Given the description of an element on the screen output the (x, y) to click on. 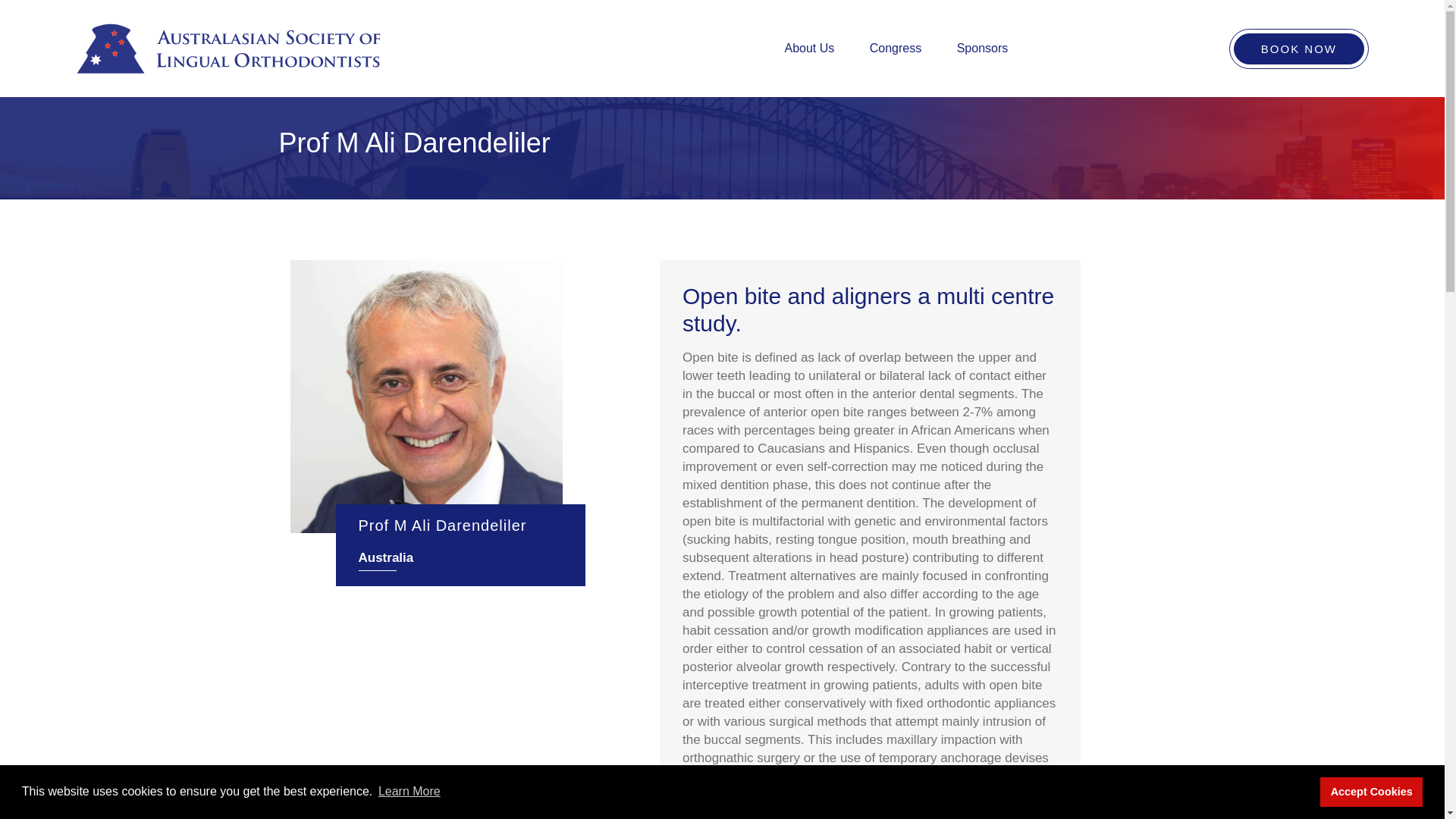
BOOK NOW (1298, 48)
Learn More (408, 791)
Accept Cookies (1371, 791)
